Given the description of an element on the screen output the (x, y) to click on. 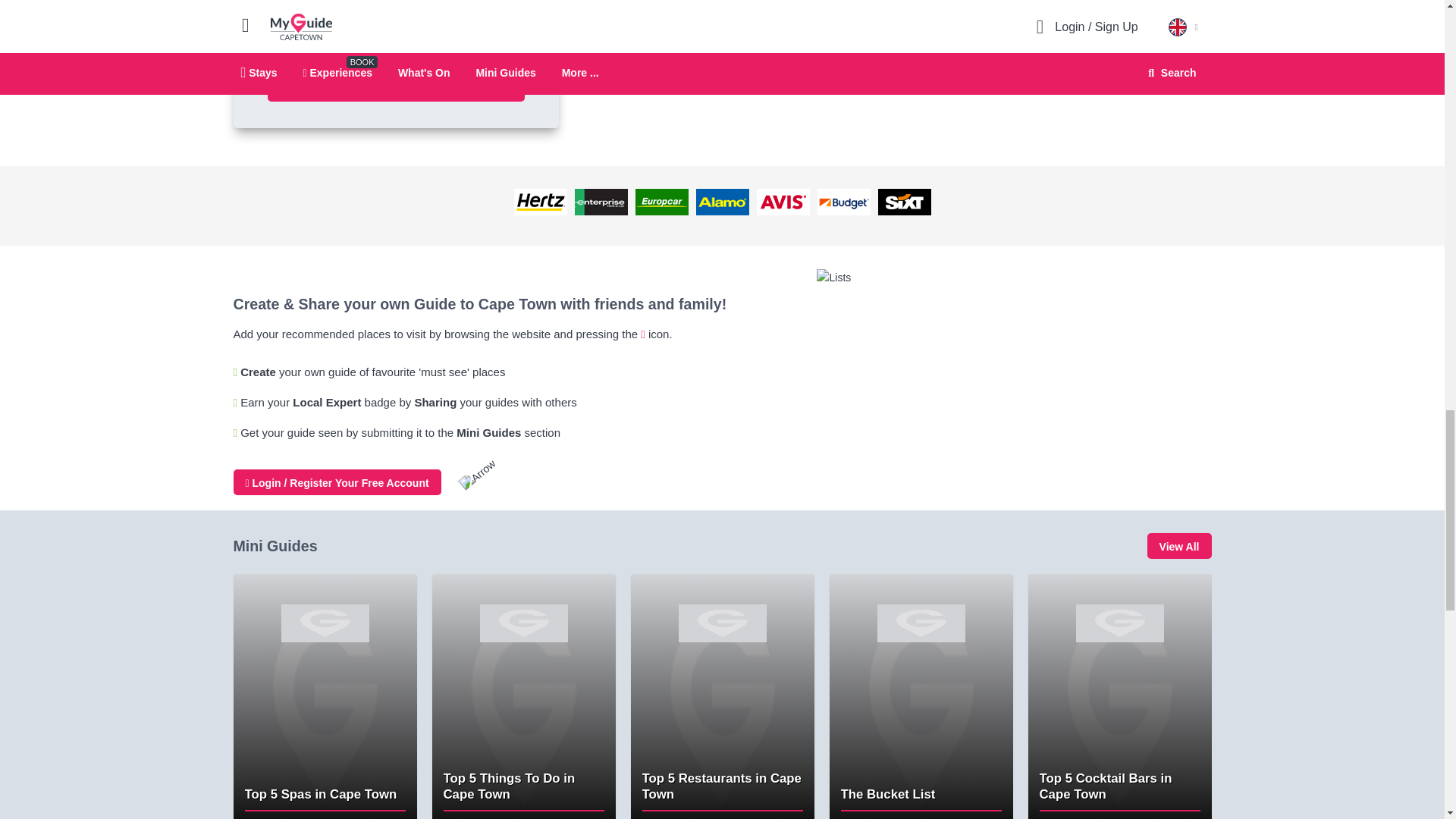
on (271, 43)
